Given the description of an element on the screen output the (x, y) to click on. 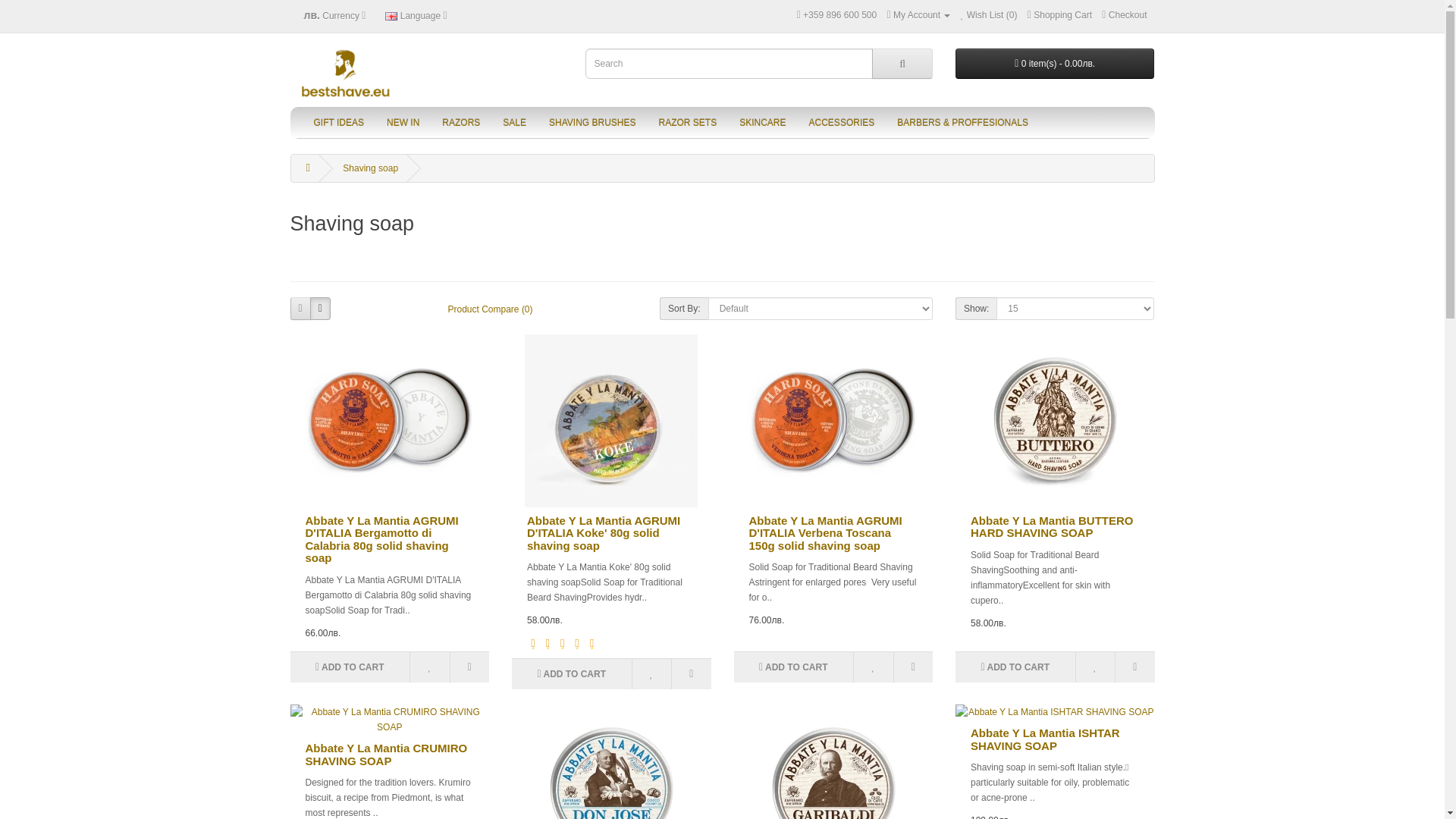
Shopping Cart (1059, 14)
NEW IN (402, 122)
Abbate Y La Mantia BUTTERO HARD SHAVING SOAP  (1054, 420)
The Best Of Shaving (346, 73)
Checkout (1124, 14)
SHAVING BRUSHES (591, 122)
Language  (416, 15)
English (391, 16)
Shopping Cart (1059, 14)
Checkout (1124, 14)
My Account (918, 14)
GIFT IDEAS (337, 122)
